Given the description of an element on the screen output the (x, y) to click on. 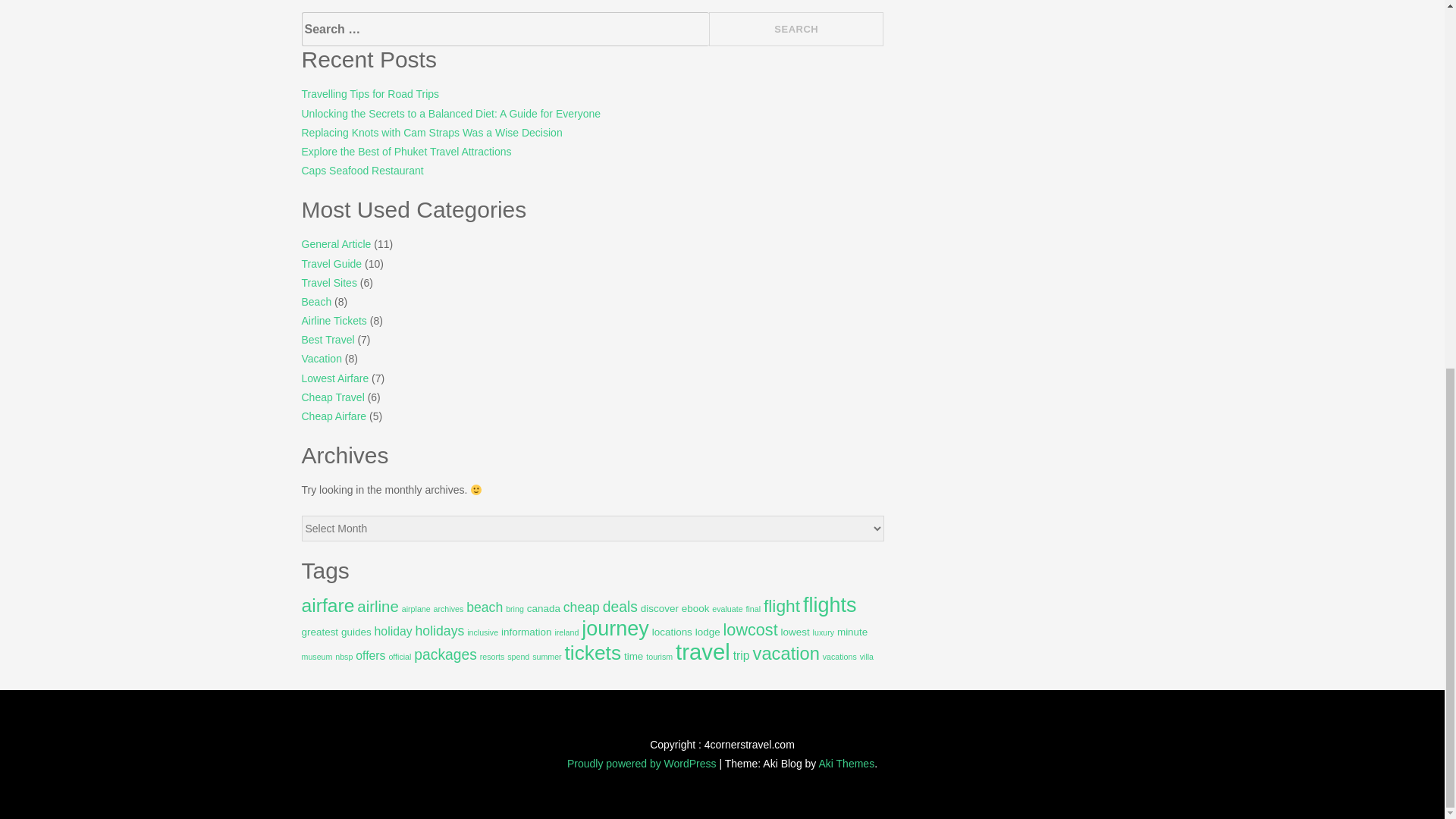
Search (796, 28)
Travelling Tips for Road Trips (370, 93)
Caps Seafood Restaurant (362, 170)
Replacing Knots with Cam Straps Was a Wise Decision (431, 132)
Search (796, 28)
Search (796, 28)
Travel Guide (331, 263)
Explore the Best of Phuket Travel Attractions (406, 151)
General Article (336, 244)
